Given the description of an element on the screen output the (x, y) to click on. 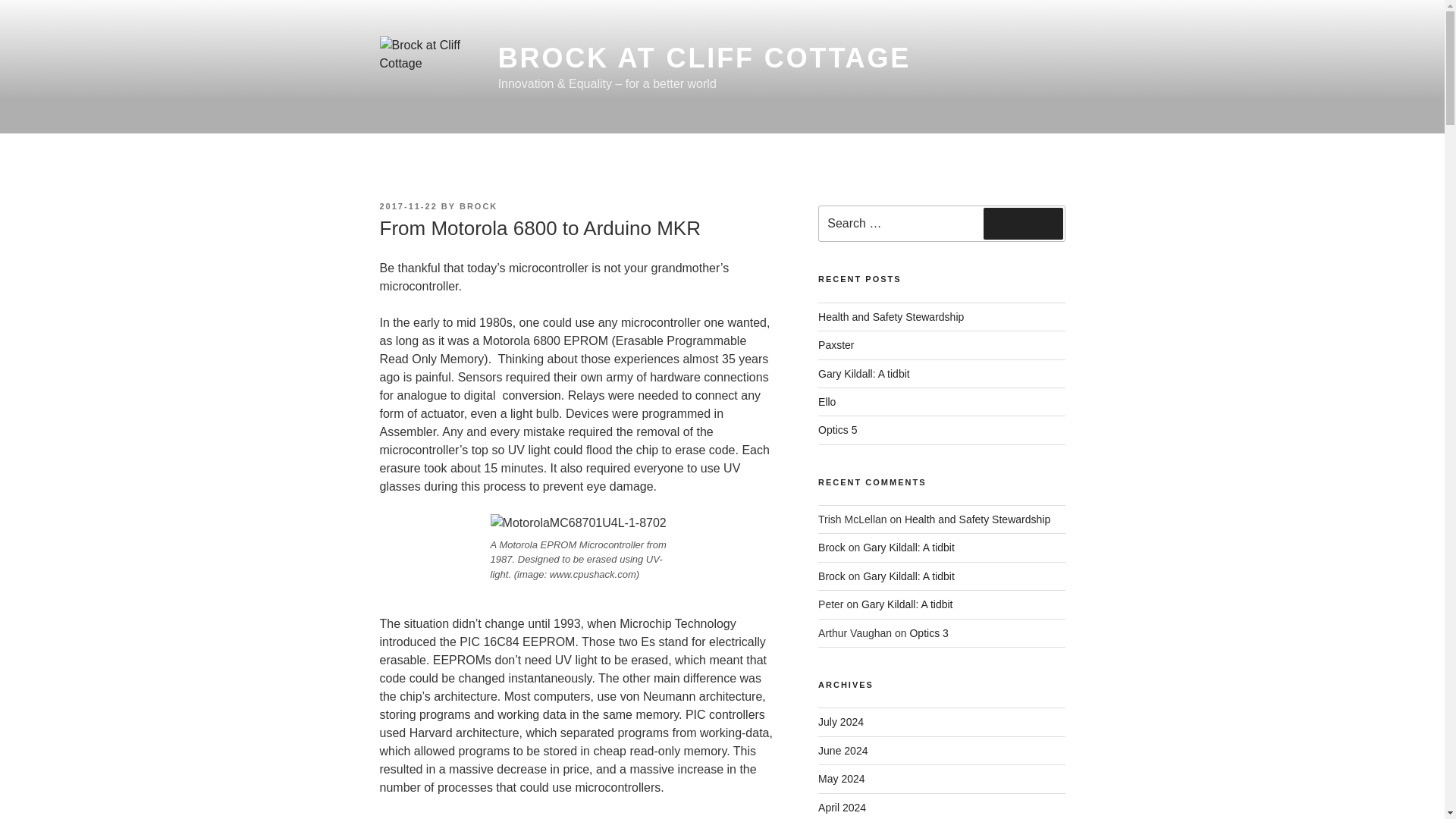
Gary Kildall: A tidbit (864, 373)
July 2024 (840, 721)
Optics 5 (837, 429)
May 2024 (841, 778)
Gary Kildall: A tidbit (907, 604)
Optics 3 (927, 633)
BROCK (478, 205)
Gary Kildall: A tidbit (909, 547)
Health and Safety Stewardship (890, 316)
Brock (831, 547)
June 2024 (842, 750)
Paxster (835, 345)
Health and Safety Stewardship (976, 519)
BROCK AT CLIFF COTTAGE (704, 57)
Search (1023, 223)
